Given the description of an element on the screen output the (x, y) to click on. 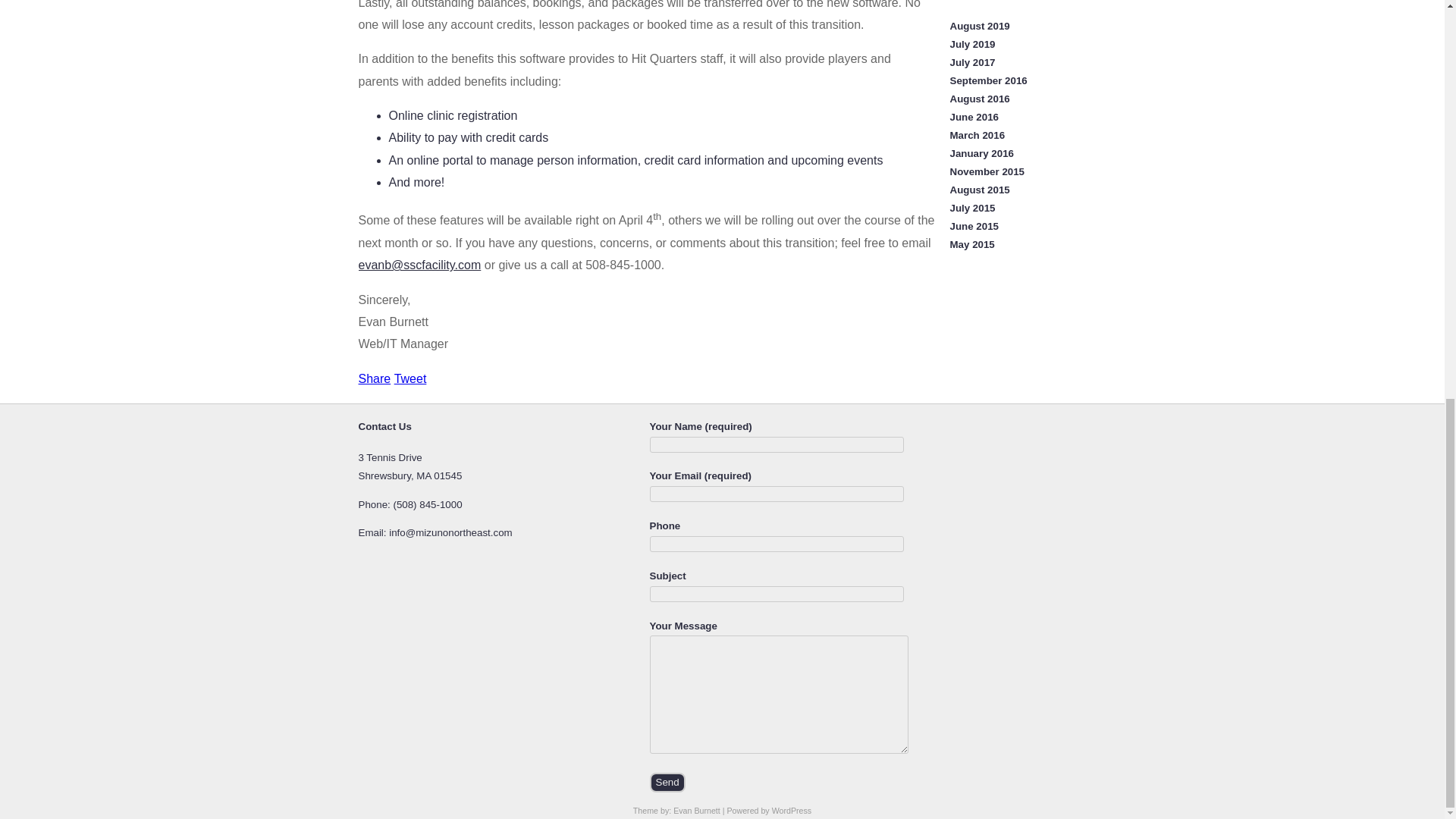
July 2019 (971, 43)
September 2016 (987, 80)
March 2016 (976, 134)
Send (666, 782)
January 2016 (981, 153)
June 2016 (973, 116)
August 2016 (979, 98)
August 2019 (979, 25)
July 2017 (971, 61)
November 2015 (987, 171)
August 2015 (979, 189)
